Given the description of an element on the screen output the (x, y) to click on. 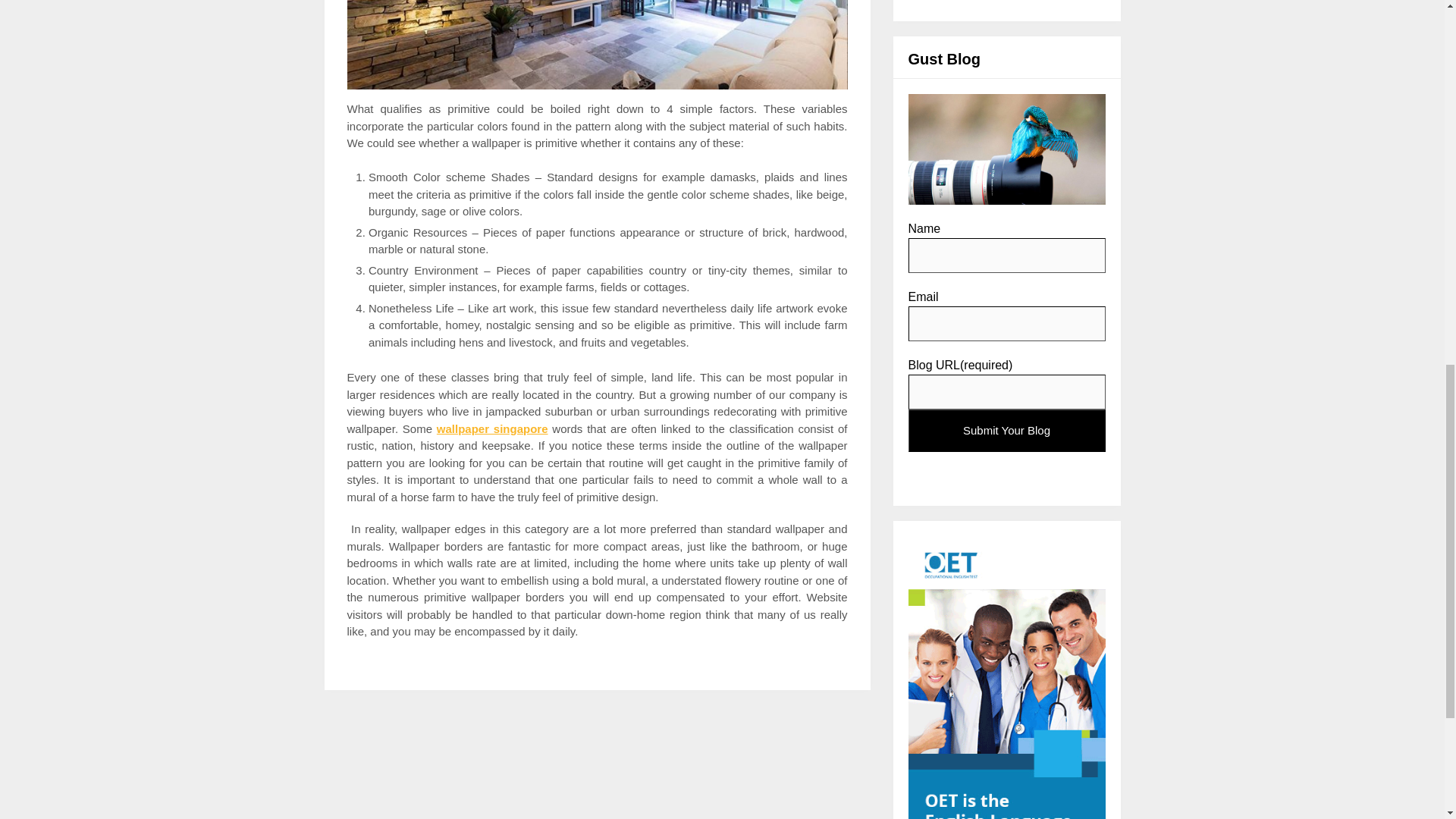
Submit Your Blog (1006, 430)
wallpaper singapore (492, 427)
Submit Your Blog (1006, 430)
